Given the description of an element on the screen output the (x, y) to click on. 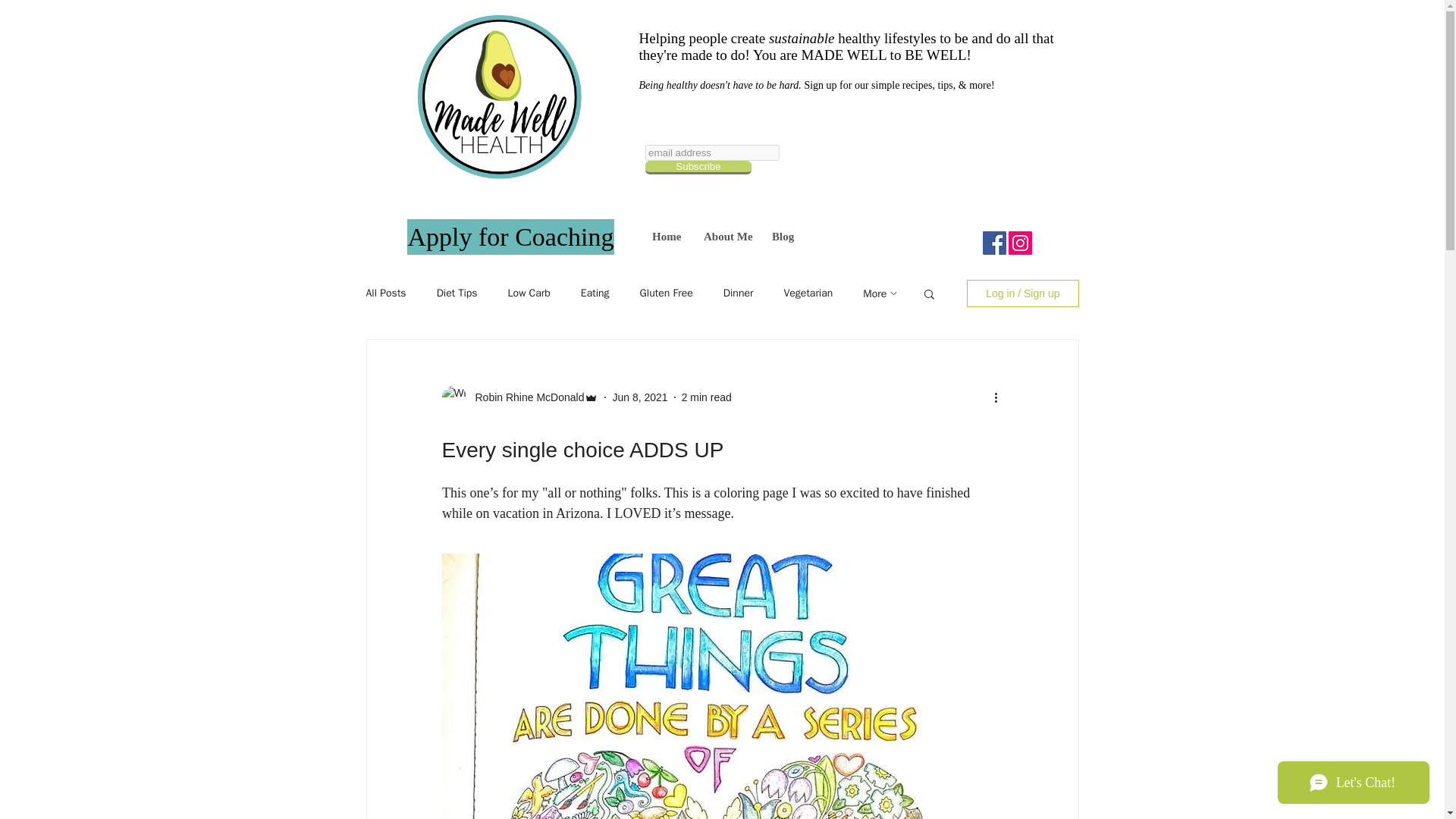
Eating (595, 293)
Diet Tips (456, 293)
All Posts (385, 293)
Blog (781, 236)
2 min read (706, 397)
Dinner (738, 293)
Vegetarian (807, 293)
Gluten Free (666, 293)
Robin Rhine McDonald (524, 397)
Jun 8, 2021 (638, 397)
Home (666, 236)
Apply for Coaching (510, 236)
Embedded Content (834, 178)
Low Carb (529, 293)
